Given the description of an element on the screen output the (x, y) to click on. 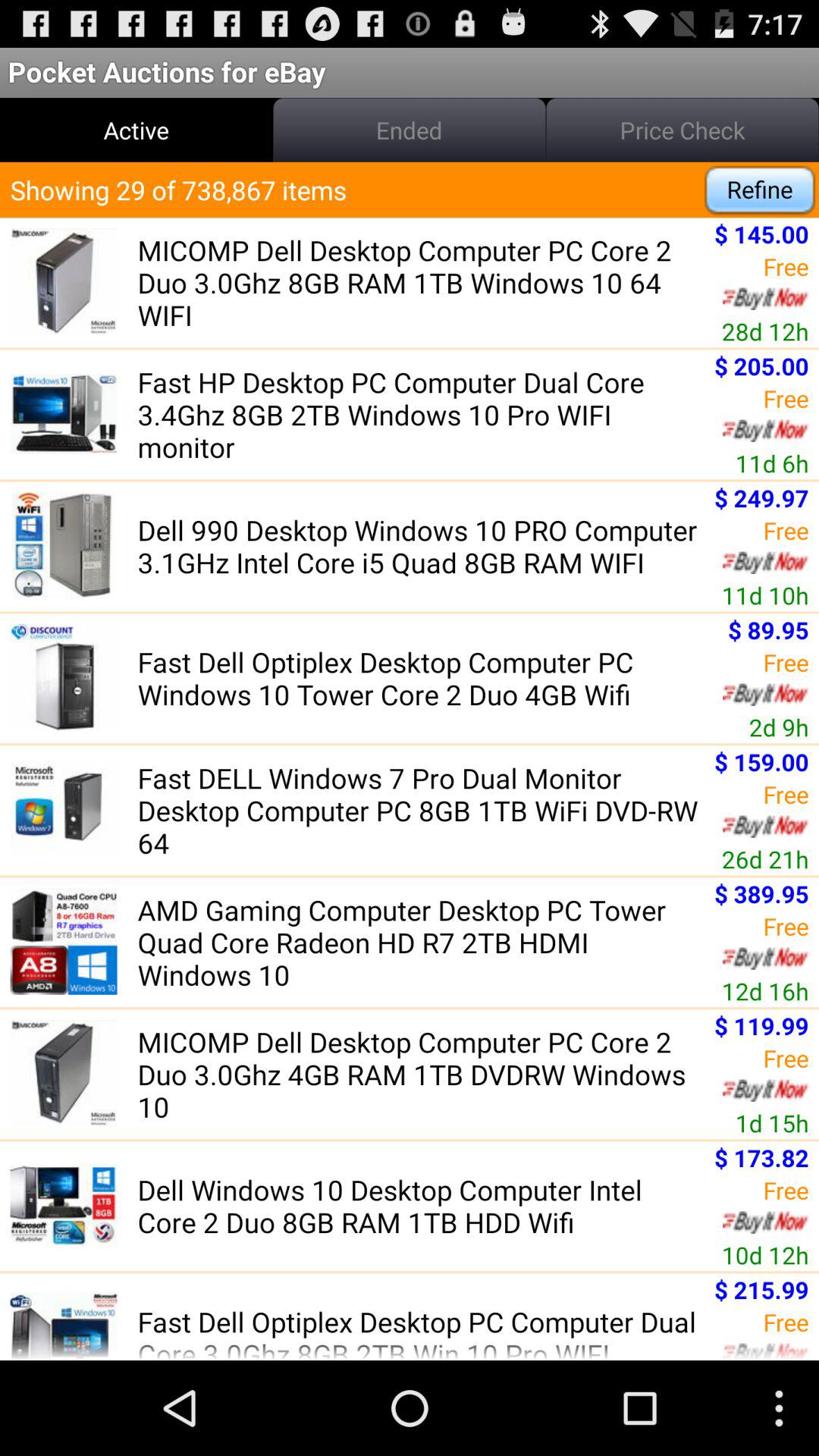
turn off the app next to the showing 29 of (759, 189)
